Given the description of an element on the screen output the (x, y) to click on. 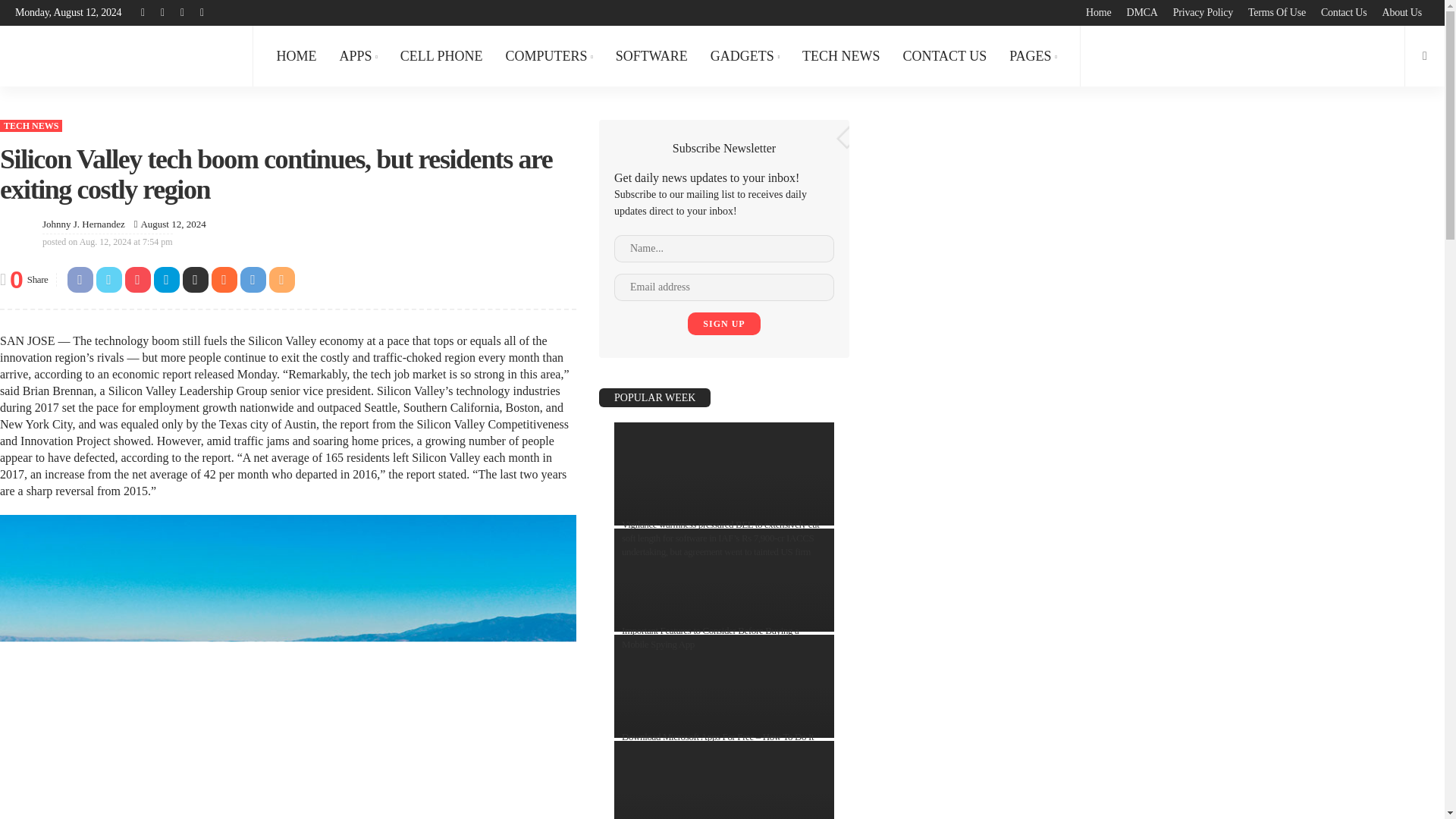
TECH NEWS (840, 55)
SOFTWARE (651, 55)
CELL PHONE (441, 55)
APPS (357, 55)
COMPUTERS (548, 55)
Privacy Policy (1203, 12)
Contact Us (1343, 12)
Home (1098, 12)
Tech News (31, 125)
HOME (295, 55)
